Given the description of an element on the screen output the (x, y) to click on. 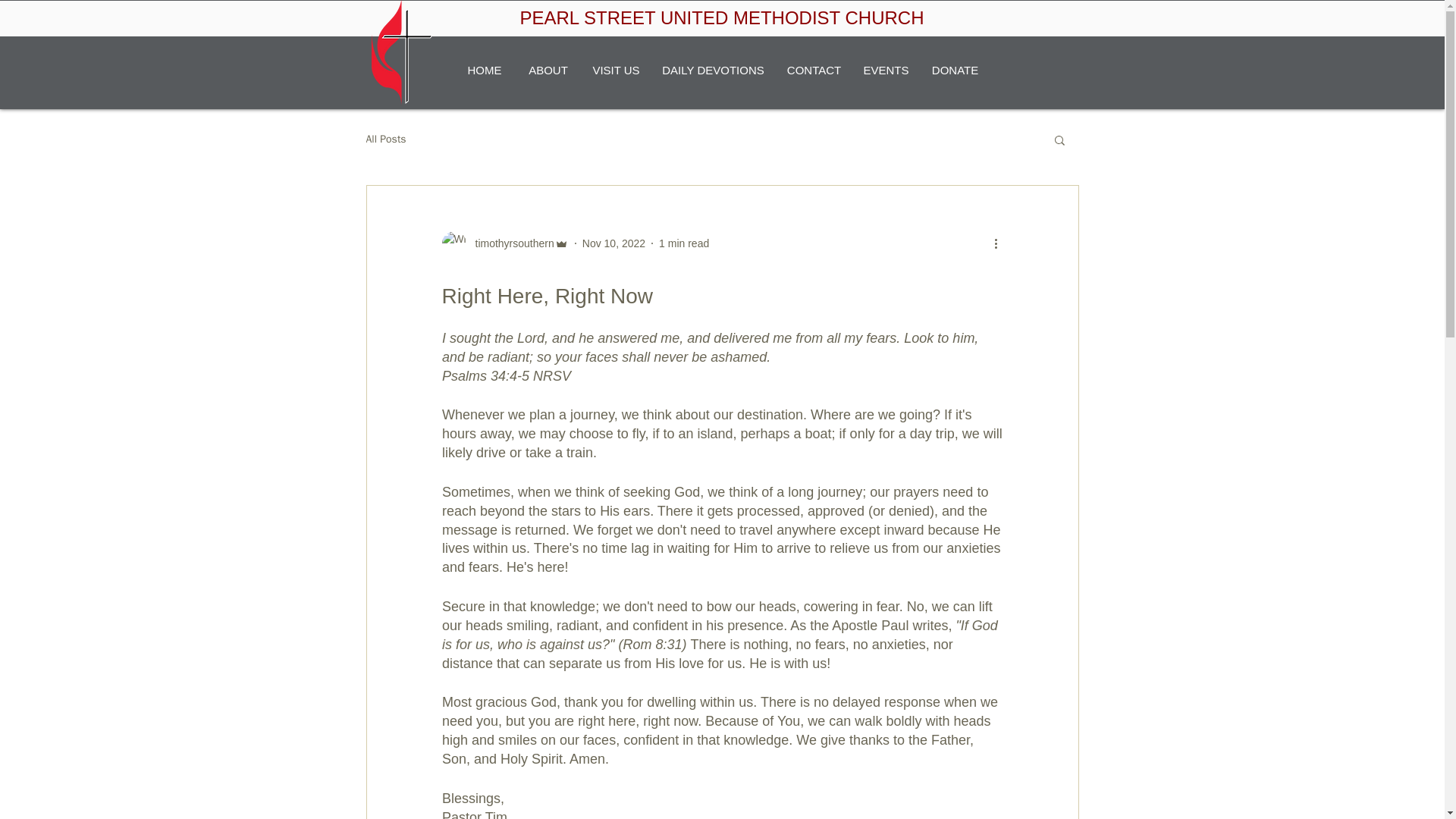
DAILY DEVOTIONS (712, 70)
CONTACT (812, 70)
1 min read (684, 242)
EVENTS (884, 70)
HOME (483, 70)
All Posts (385, 139)
DONATE (954, 70)
timothyrsouthern (509, 242)
VISIT US (615, 70)
Nov 10, 2022 (613, 242)
timothyrsouthern (504, 242)
